Given the description of an element on the screen output the (x, y) to click on. 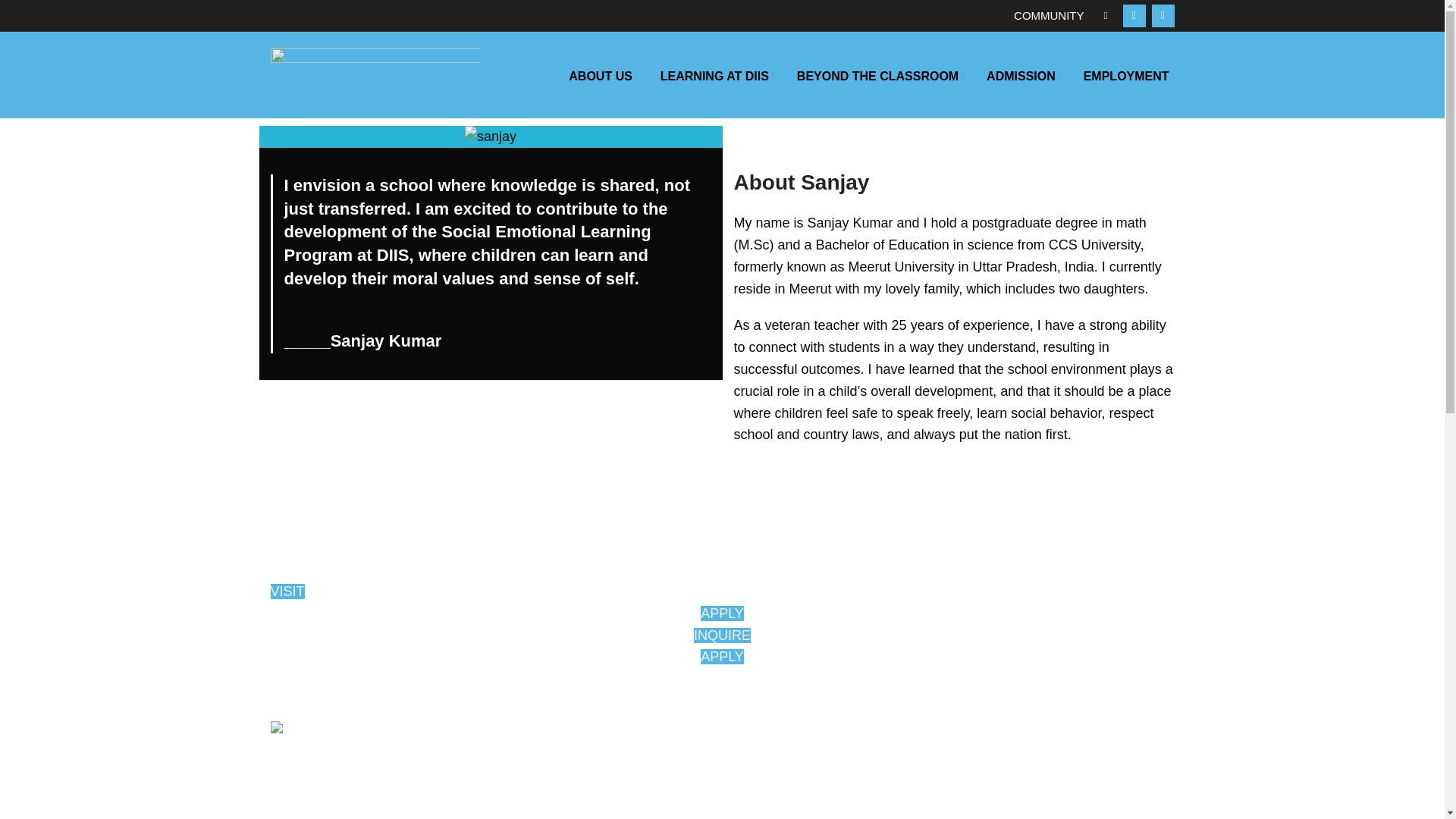
sanjay (490, 137)
disha-logo-white-new (339, 731)
Apply (722, 656)
Apply (722, 613)
Inquiry (722, 635)
LEARNING AT DIIS (717, 75)
Visit (286, 590)
ABOUT US (602, 75)
COMMUNITY (1050, 15)
